Given the description of an element on the screen output the (x, y) to click on. 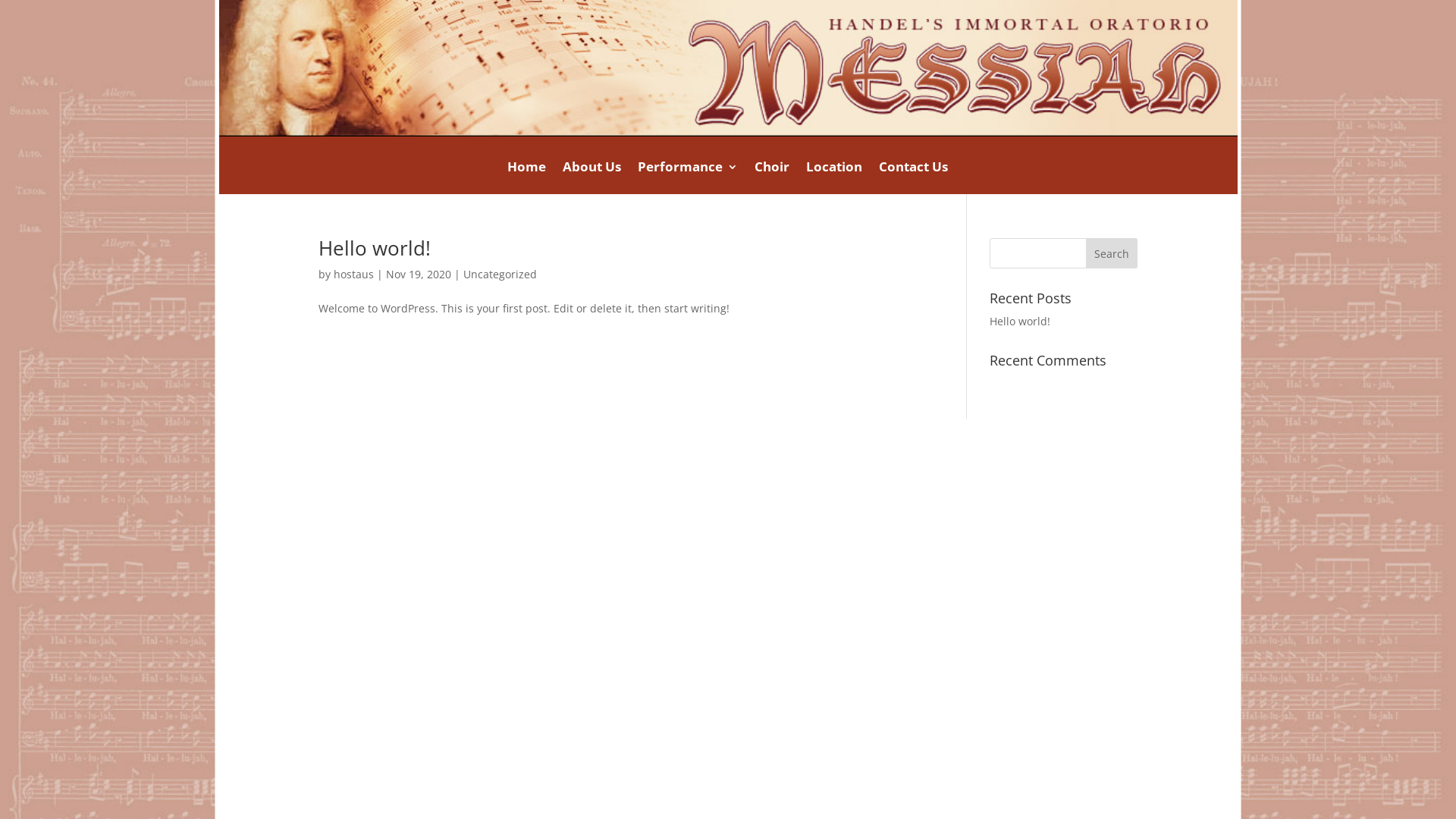
Hello world! Element type: text (374, 247)
Location Element type: text (834, 177)
Search Element type: text (1111, 253)
Performance Element type: text (687, 177)
Contact Us Element type: text (912, 177)
Uncategorized Element type: text (499, 273)
Home Element type: text (526, 177)
Hello world! Element type: text (1019, 320)
hostaus Element type: text (353, 273)
About Us Element type: text (591, 177)
Choir Element type: text (771, 177)
